Given the description of an element on the screen output the (x, y) to click on. 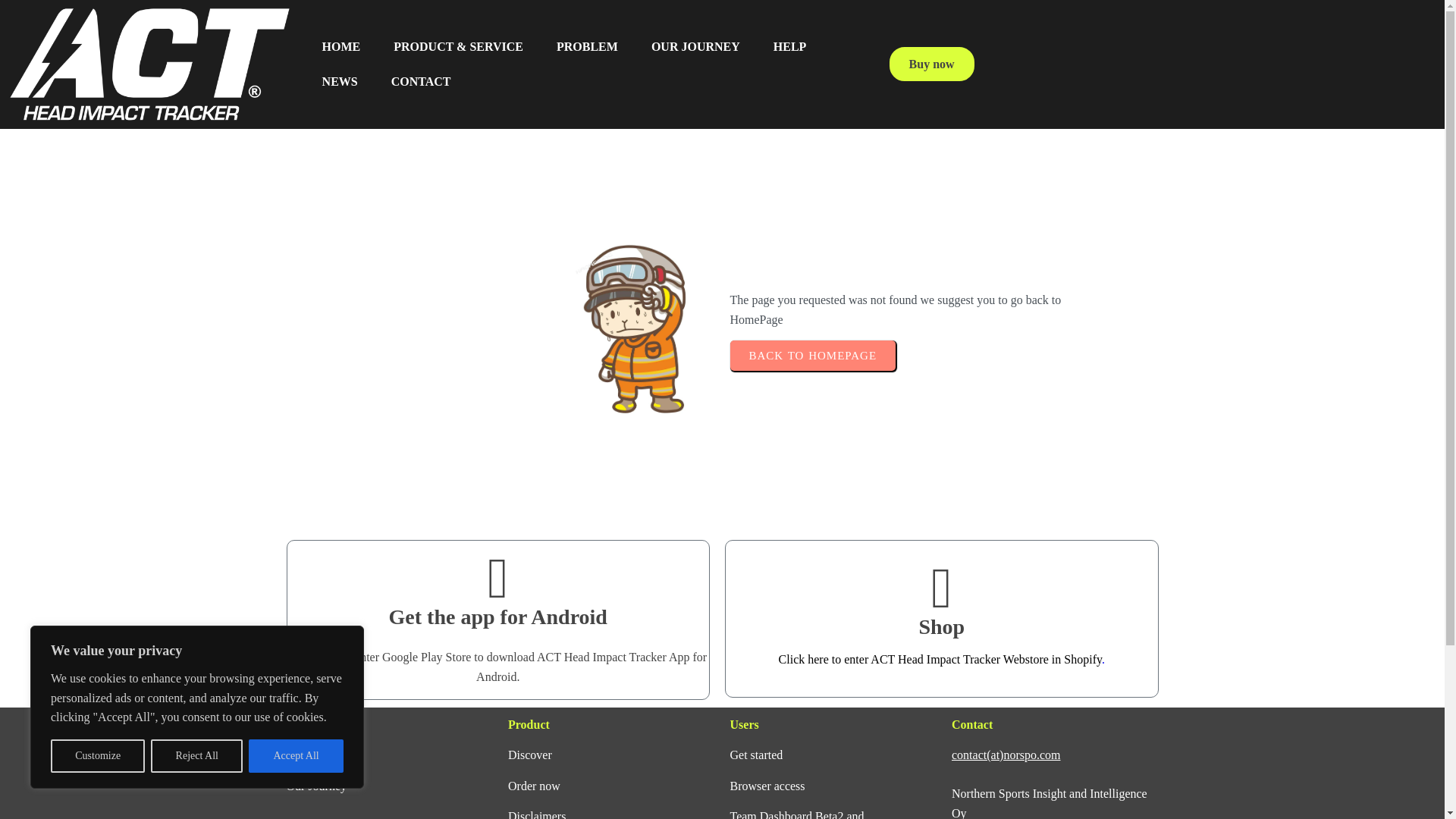
Accept All (295, 756)
Reject All (197, 756)
CONTACT (420, 81)
OUR JOURNEY (695, 46)
NEWS (339, 81)
Browser access (767, 785)
PROBLEM (587, 46)
HOME (341, 46)
